Given the description of an element on the screen output the (x, y) to click on. 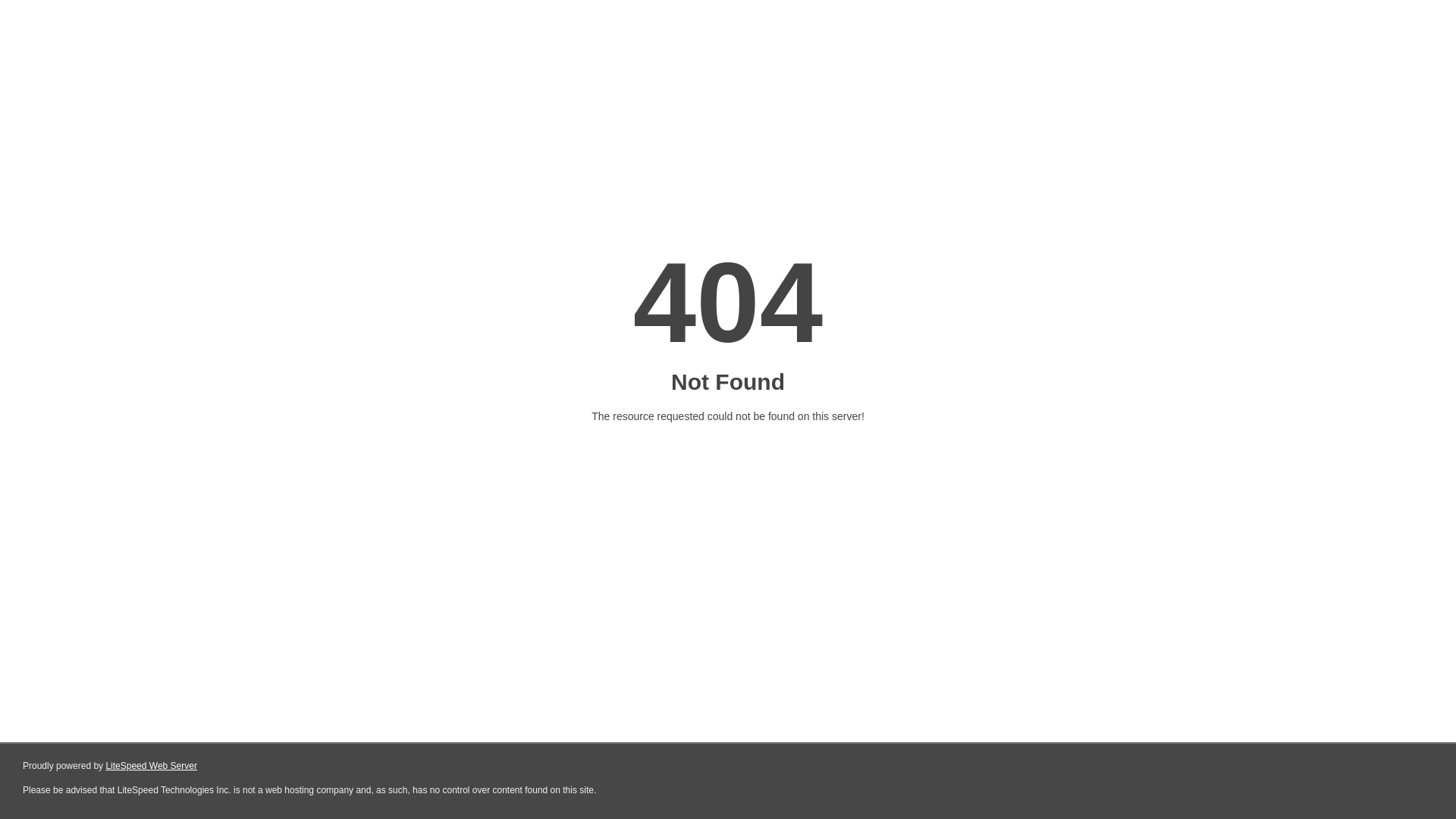
LiteSpeed Web Server Element type: text (151, 765)
